Given the description of an element on the screen output the (x, y) to click on. 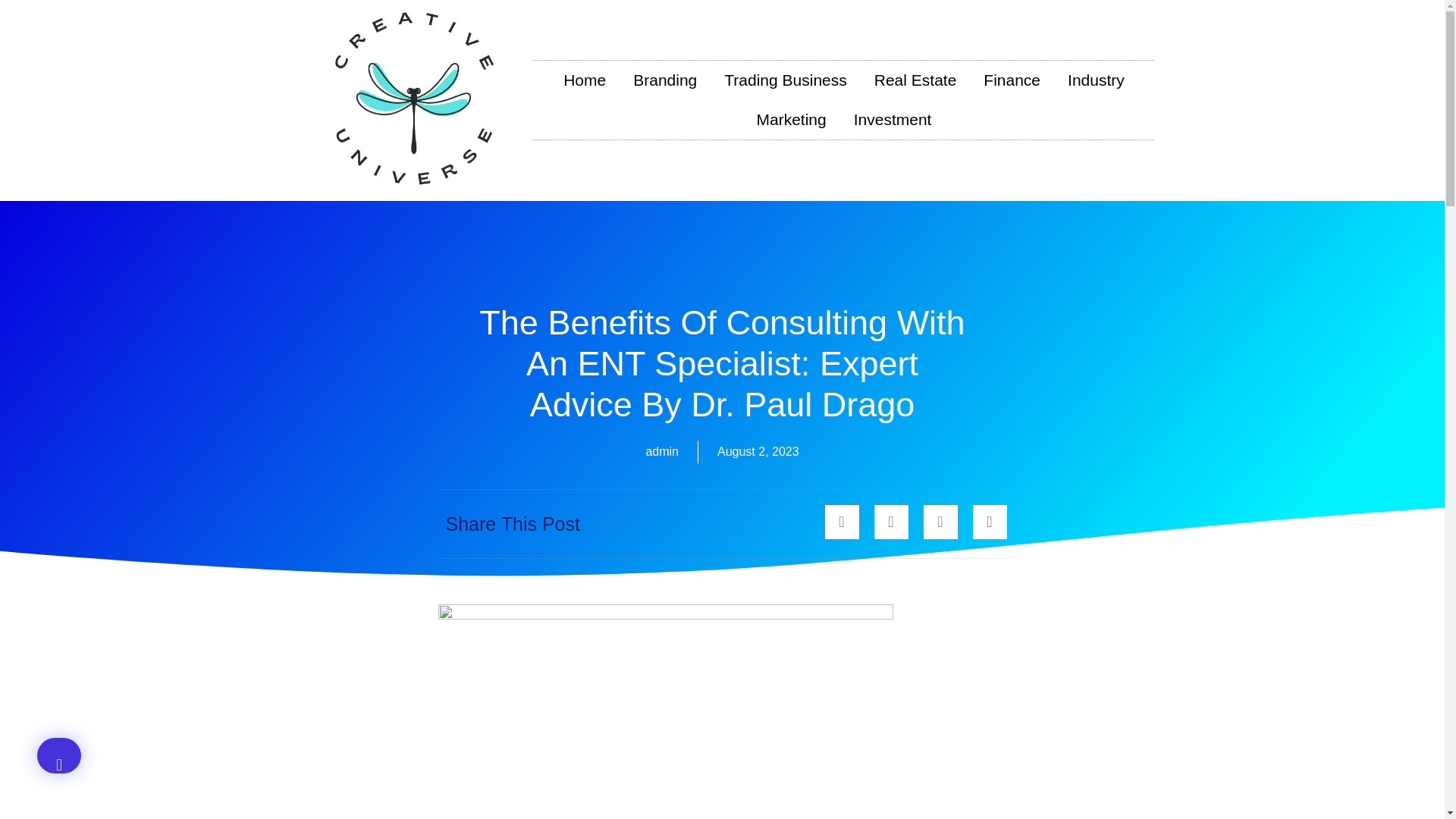
Trading Business (785, 79)
August 2, 2023 (758, 451)
Investment (892, 119)
admin (661, 451)
Marketing (791, 119)
Finance (1011, 79)
Real Estate (915, 79)
Branding (665, 79)
Home (585, 79)
Industry (1096, 79)
